Given the description of an element on the screen output the (x, y) to click on. 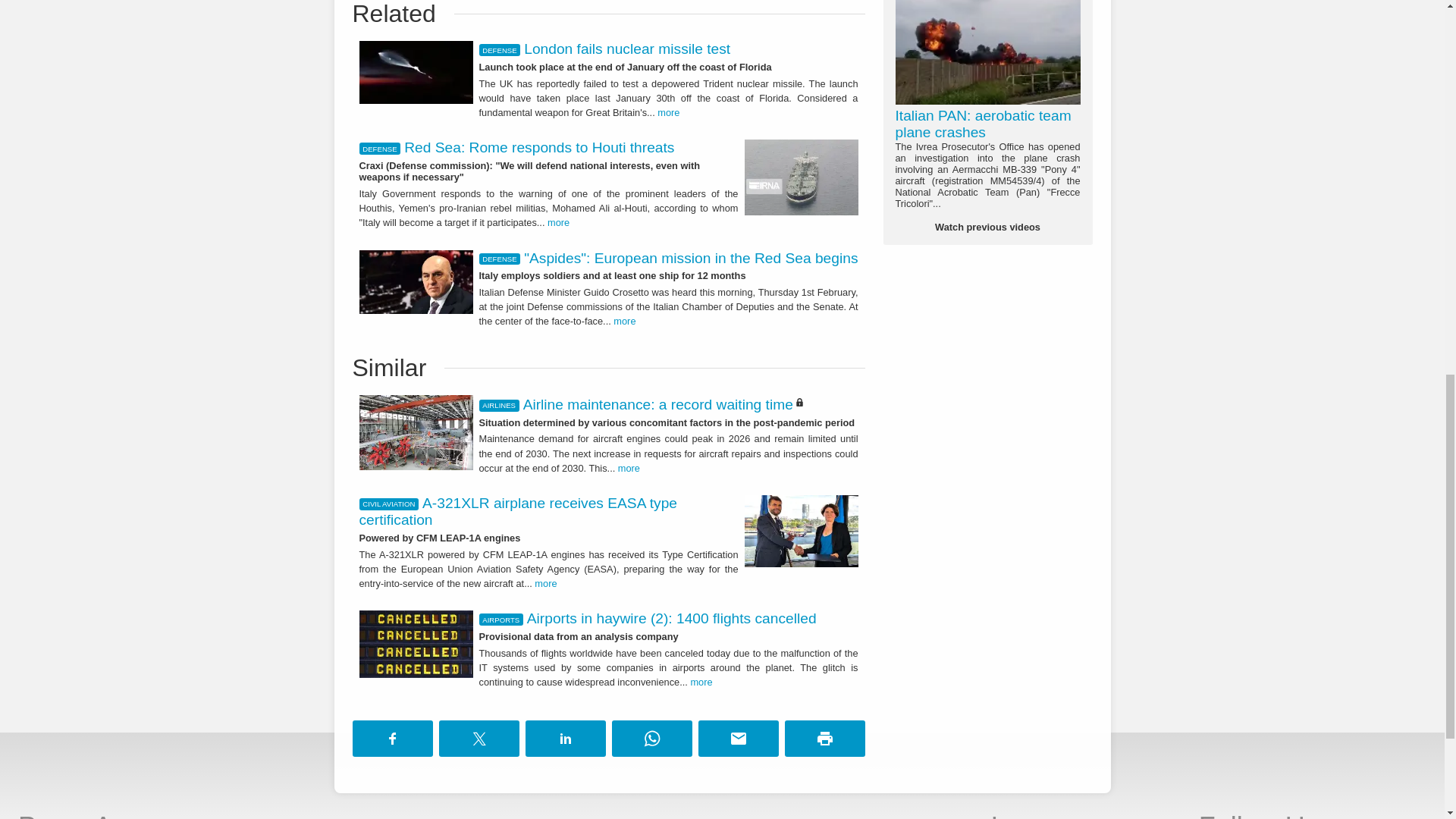
Maintenance of an Airbus aircraft (416, 432)
Cancelled flights (416, 644)
Italian Defense Minister Guido Crosetto (416, 282)
